Given the description of an element on the screen output the (x, y) to click on. 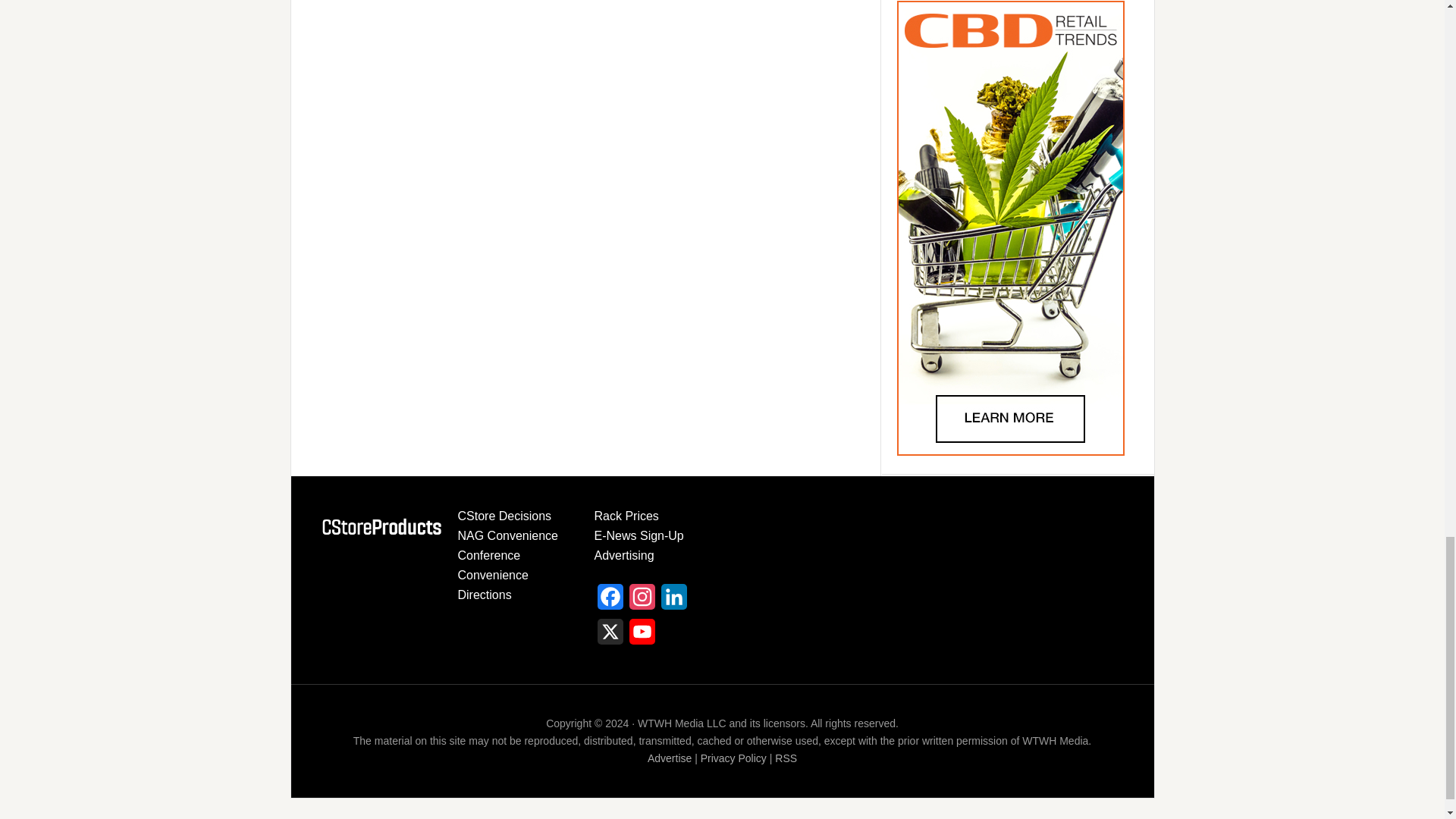
CStore Decisions (504, 515)
Convenience Directions (493, 584)
NAG Convenience Conference (508, 545)
LinkedIn Company (674, 601)
Facebook (610, 601)
YouTube (642, 636)
X (610, 636)
Instagram (642, 601)
